Given the description of an element on the screen output the (x, y) to click on. 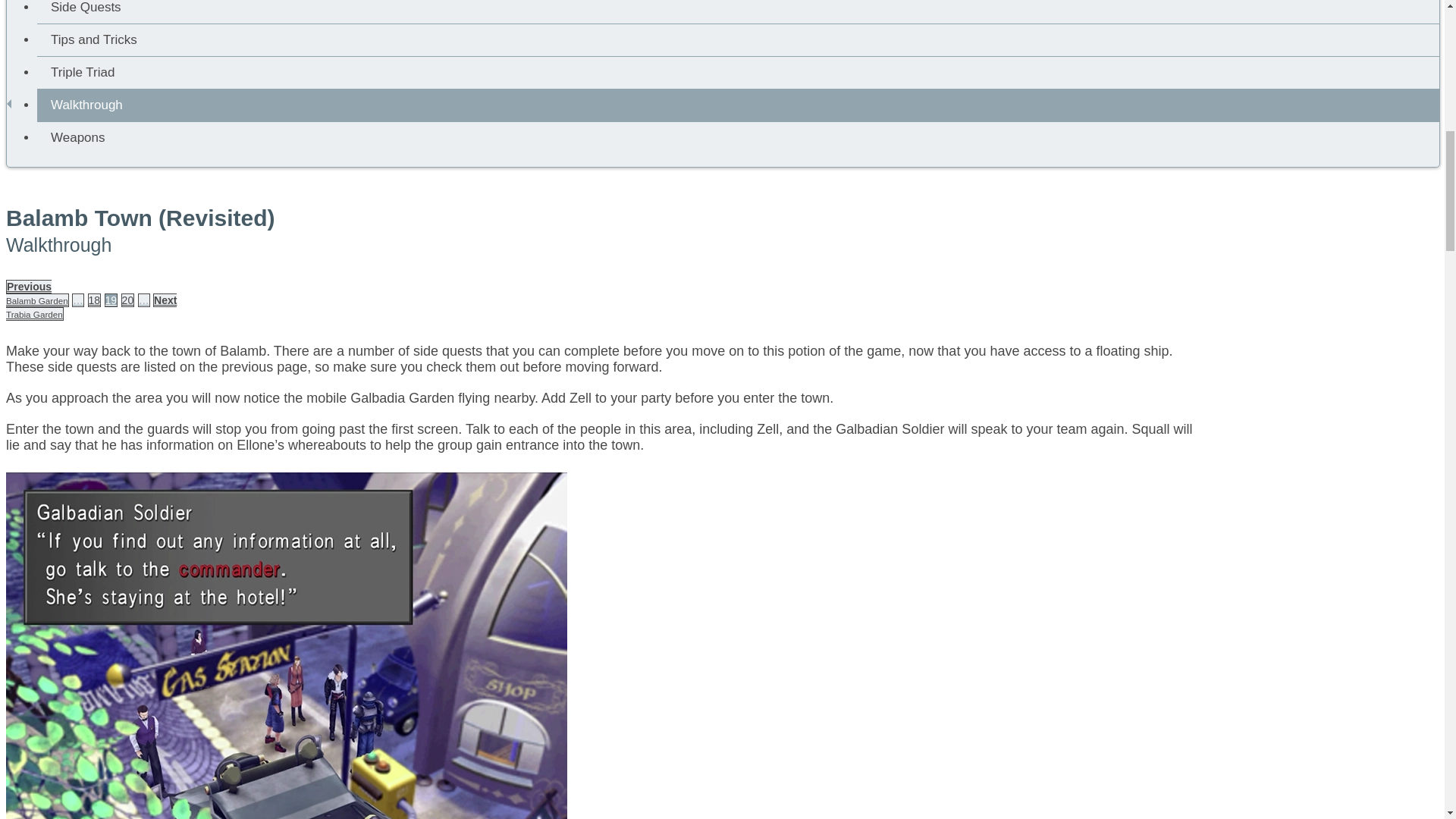
19 (90, 307)
20 (110, 300)
18 (36, 293)
